Given the description of an element on the screen output the (x, y) to click on. 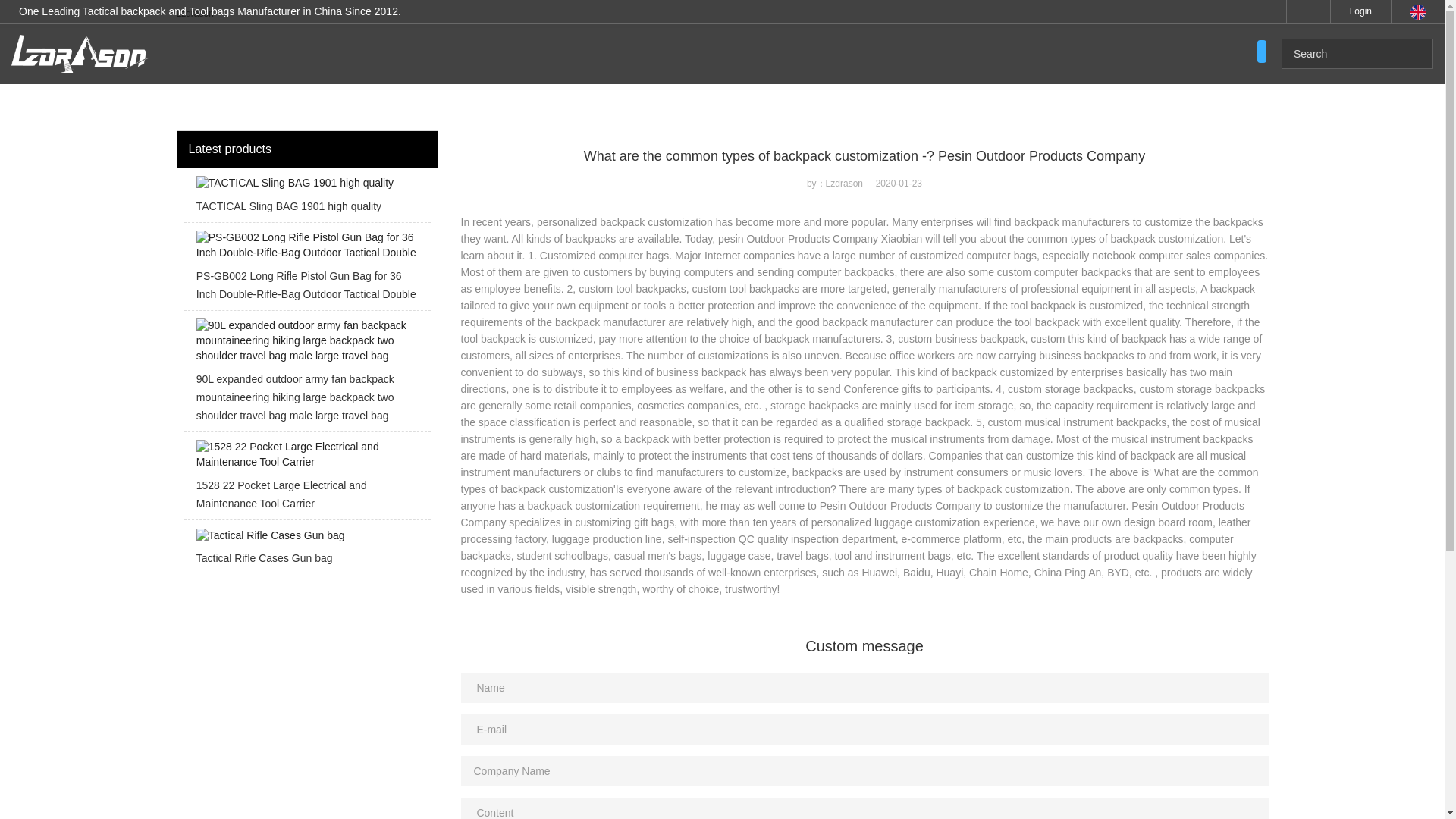
TACTICAL Sling BAG 1901 high quality (306, 199)
Tactical Rifle Cases Gun bag (306, 550)
1528 22 Pocket Large Electrical and Maintenance Tool Carrier (306, 479)
Lzdrason (194, 13)
Login (1360, 10)
